Given the description of an element on the screen output the (x, y) to click on. 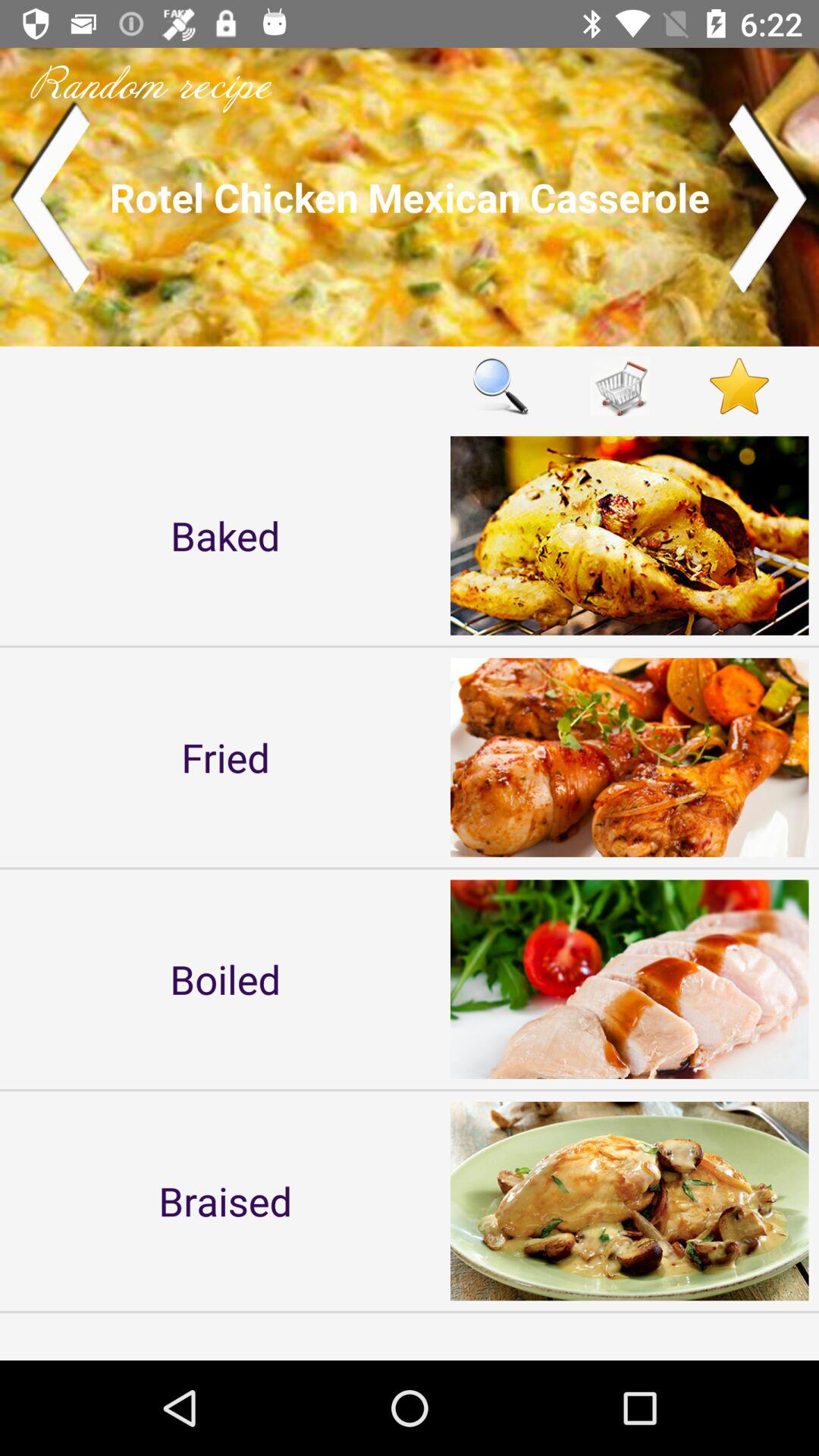
search (500, 385)
